Given the description of an element on the screen output the (x, y) to click on. 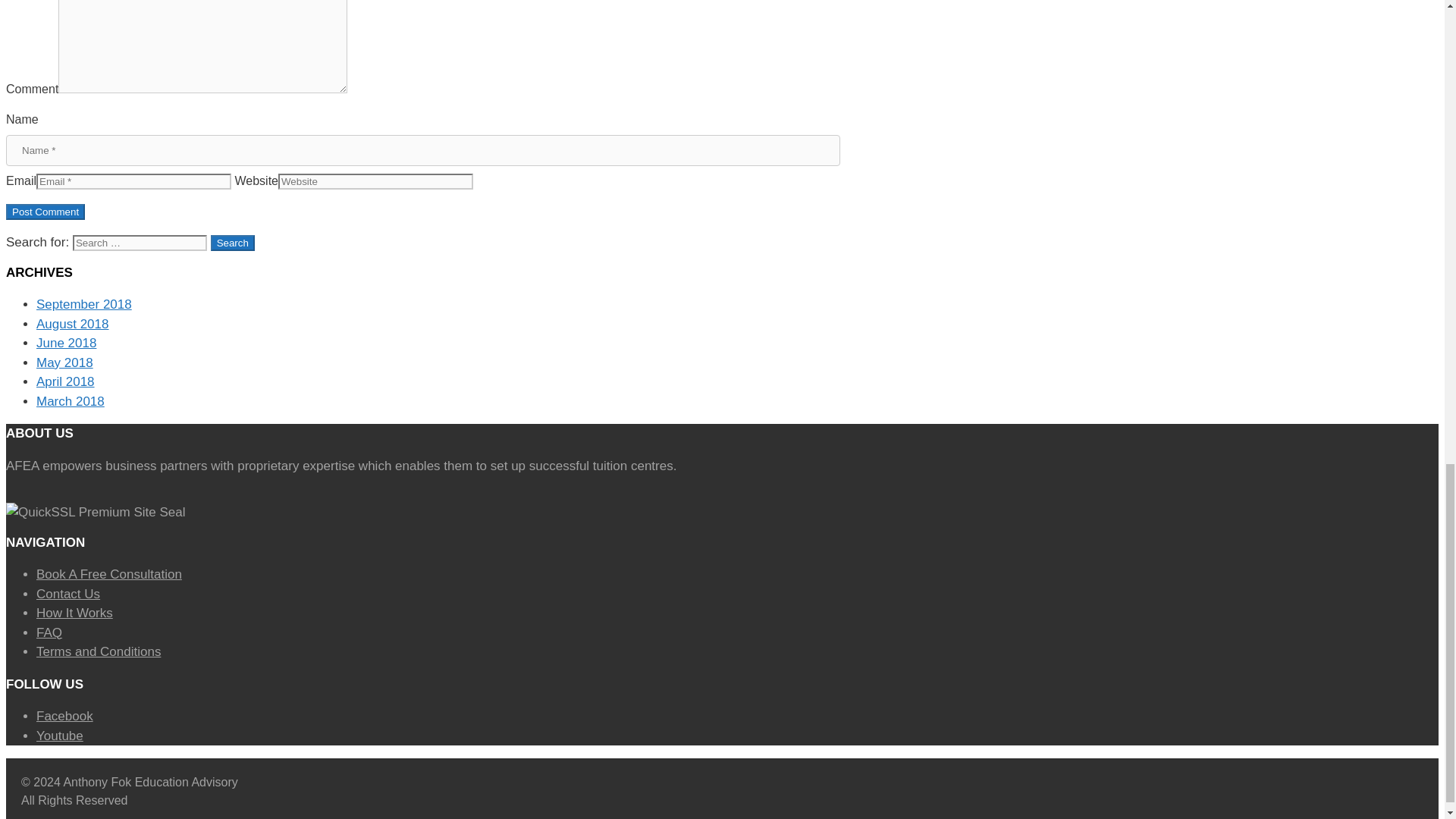
Search (232, 242)
Facebook (64, 716)
Search (232, 242)
March 2018 (70, 400)
September 2018 (84, 304)
Terms and Conditions (98, 651)
August 2018 (71, 323)
Post Comment (44, 211)
Post Comment (44, 211)
Search for: (139, 242)
FAQ (49, 632)
Search (232, 242)
Book A Free Consultation (109, 574)
June 2018 (66, 342)
How It Works (74, 612)
